Given the description of an element on the screen output the (x, y) to click on. 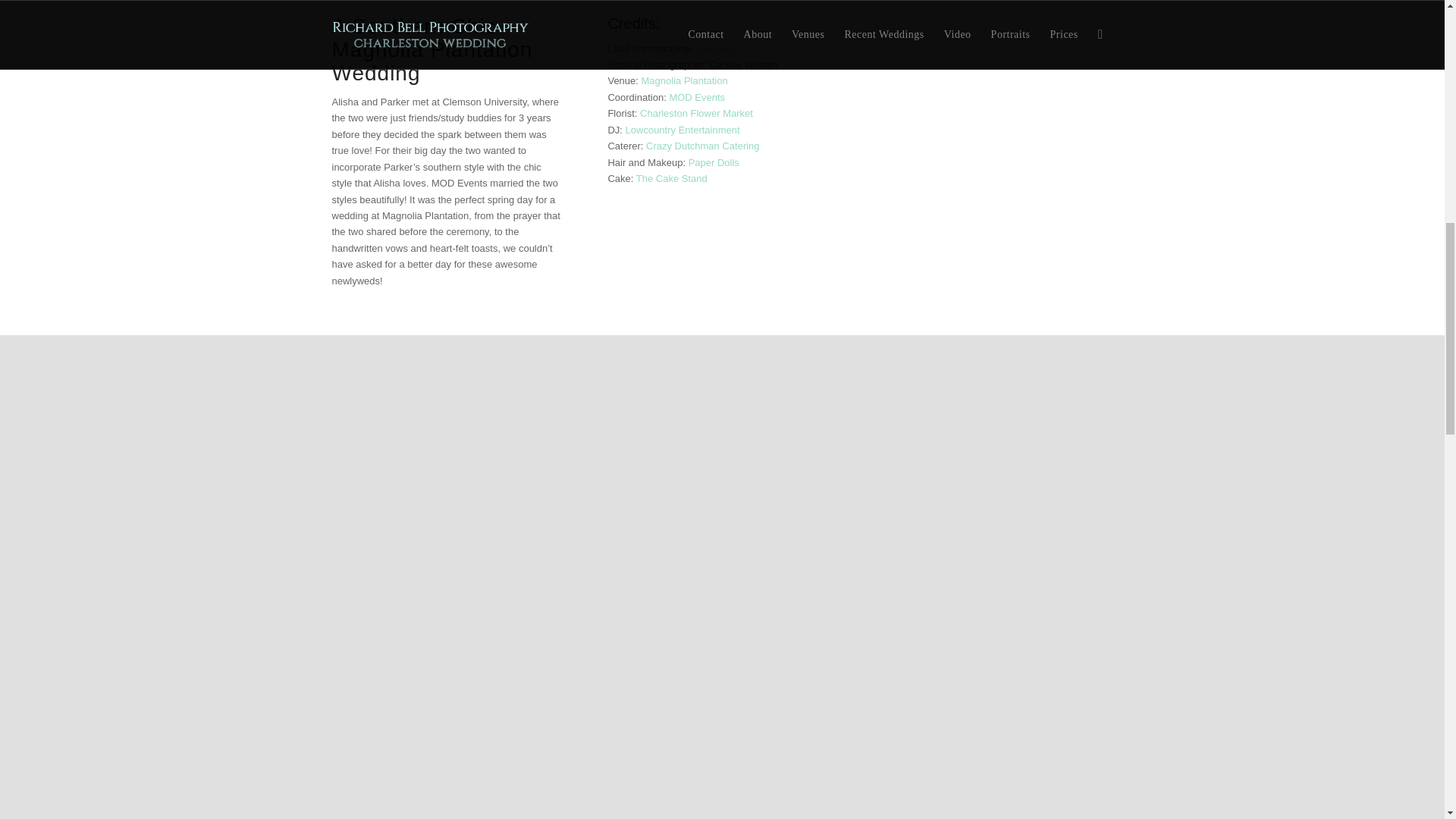
Magnolia Plantation (685, 80)
Lowcountry Entertainment (682, 129)
Paper Dolls (713, 162)
Mell Bell (716, 48)
The Cake Stand (671, 178)
Crazy Dutchman Catering (703, 145)
Charleston Flower Market (696, 112)
MOD Events (696, 97)
